Given the description of an element on the screen output the (x, y) to click on. 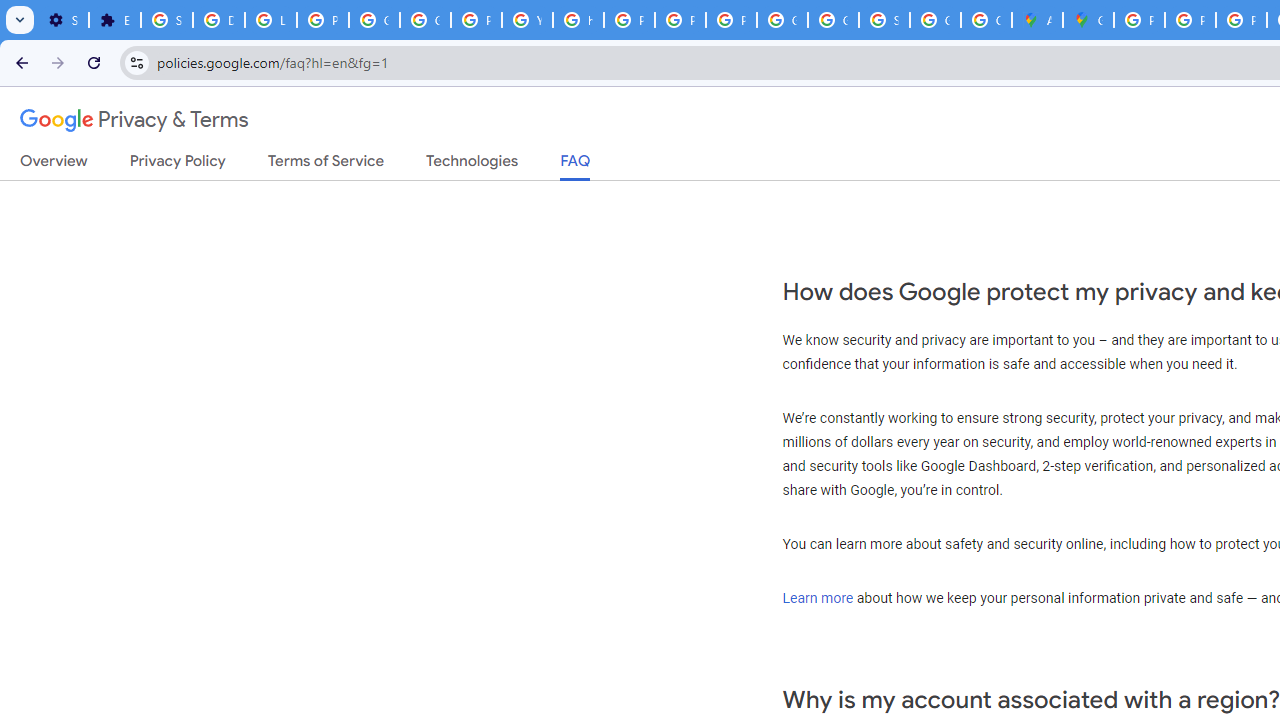
Google Account Help (374, 20)
Settings - On startup (63, 20)
Policy Accountability and Transparency - Transparency Center (1138, 20)
https://scholar.google.com/ (578, 20)
Learn more (817, 597)
Privacy Help Center - Policies Help (1189, 20)
Privacy Help Center - Policies Help (1241, 20)
